Given the description of an element on the screen output the (x, y) to click on. 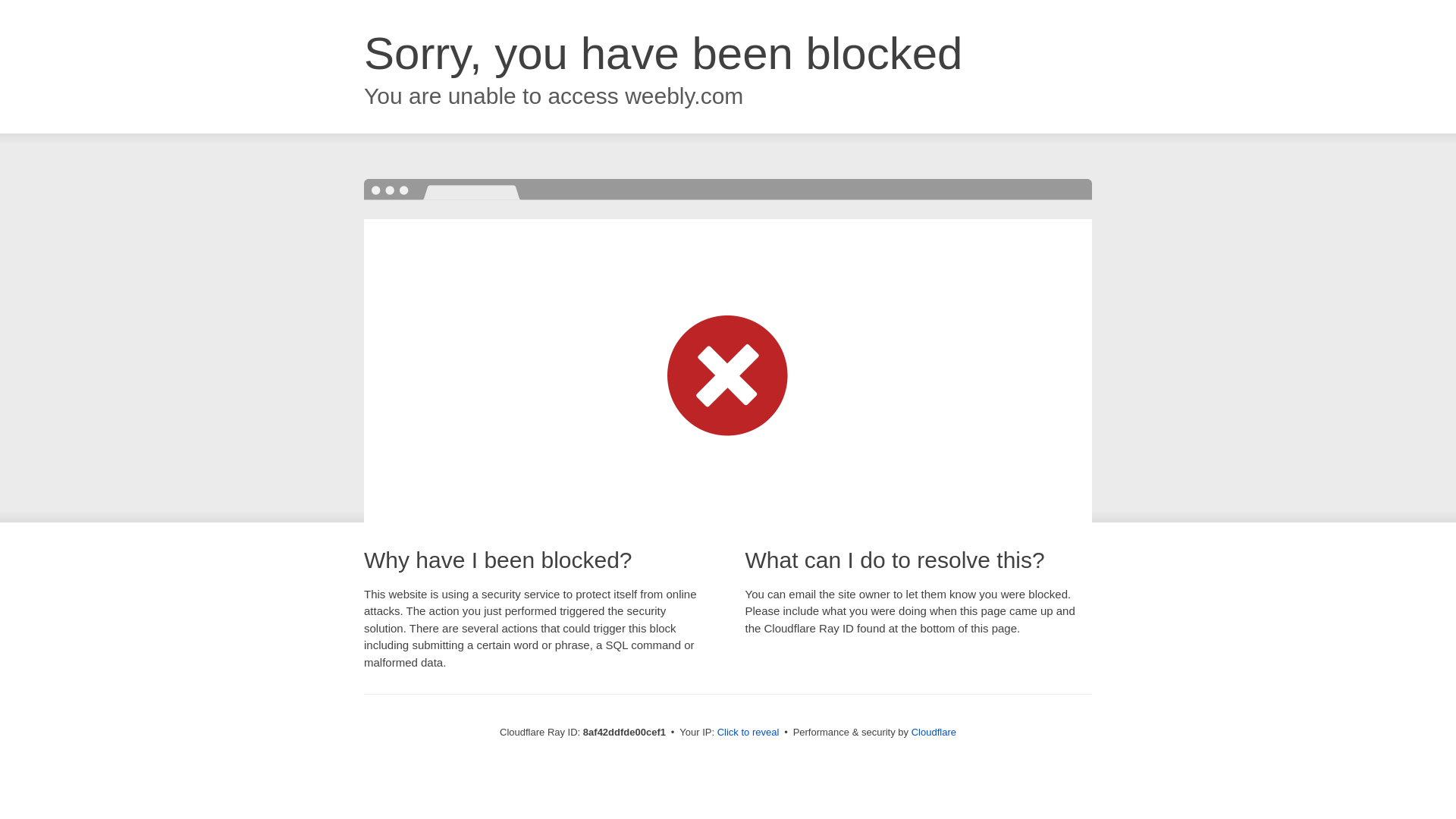
Cloudflare (933, 731)
Click to reveal (747, 732)
